Given the description of an element on the screen output the (x, y) to click on. 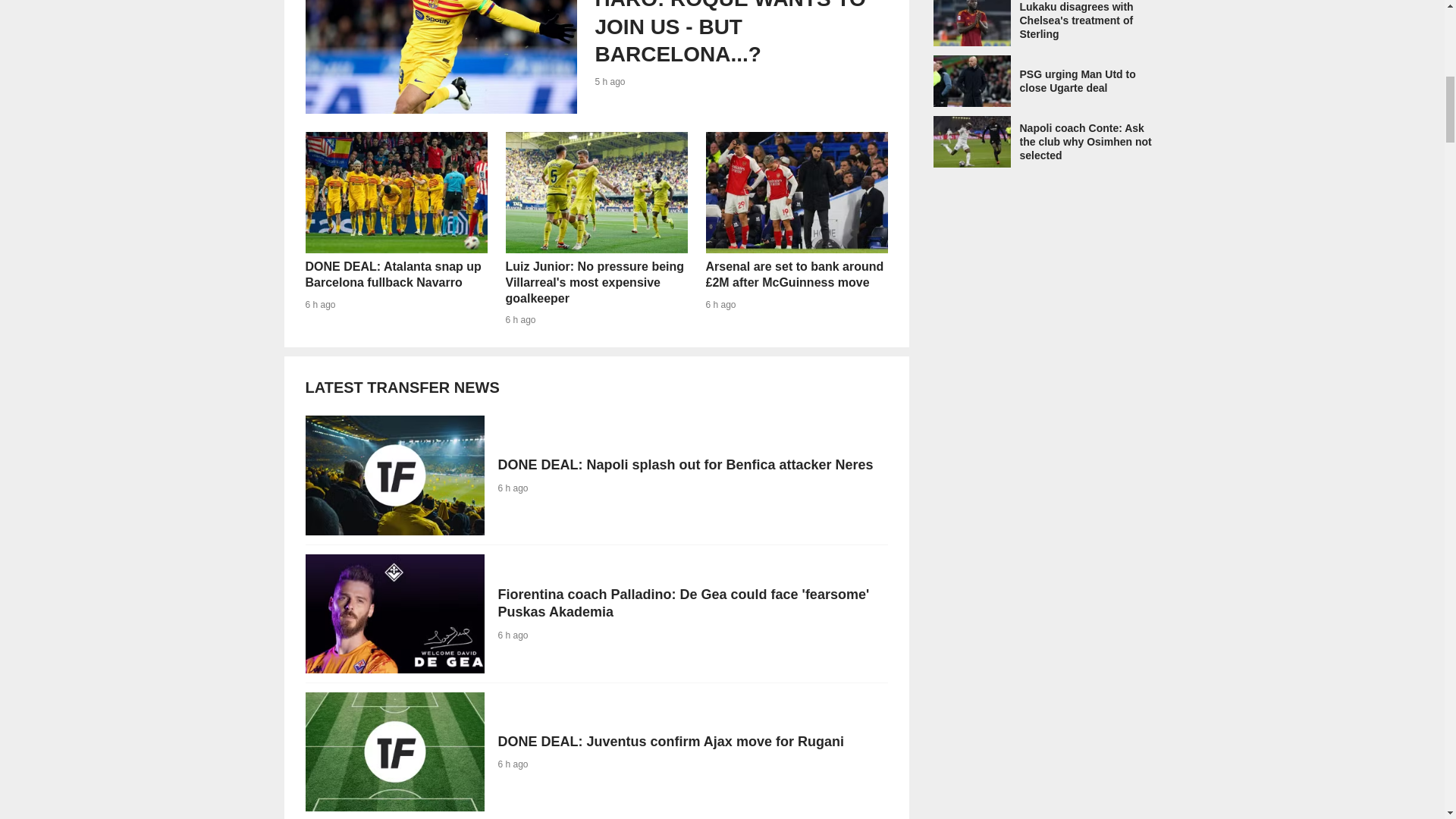
DONE DEAL: Atalanta snap up Barcelona fullback Navarro (395, 228)
DONE DEAL: Napoli splash out for Benfica attacker Neres (595, 474)
